Given the description of an element on the screen output the (x, y) to click on. 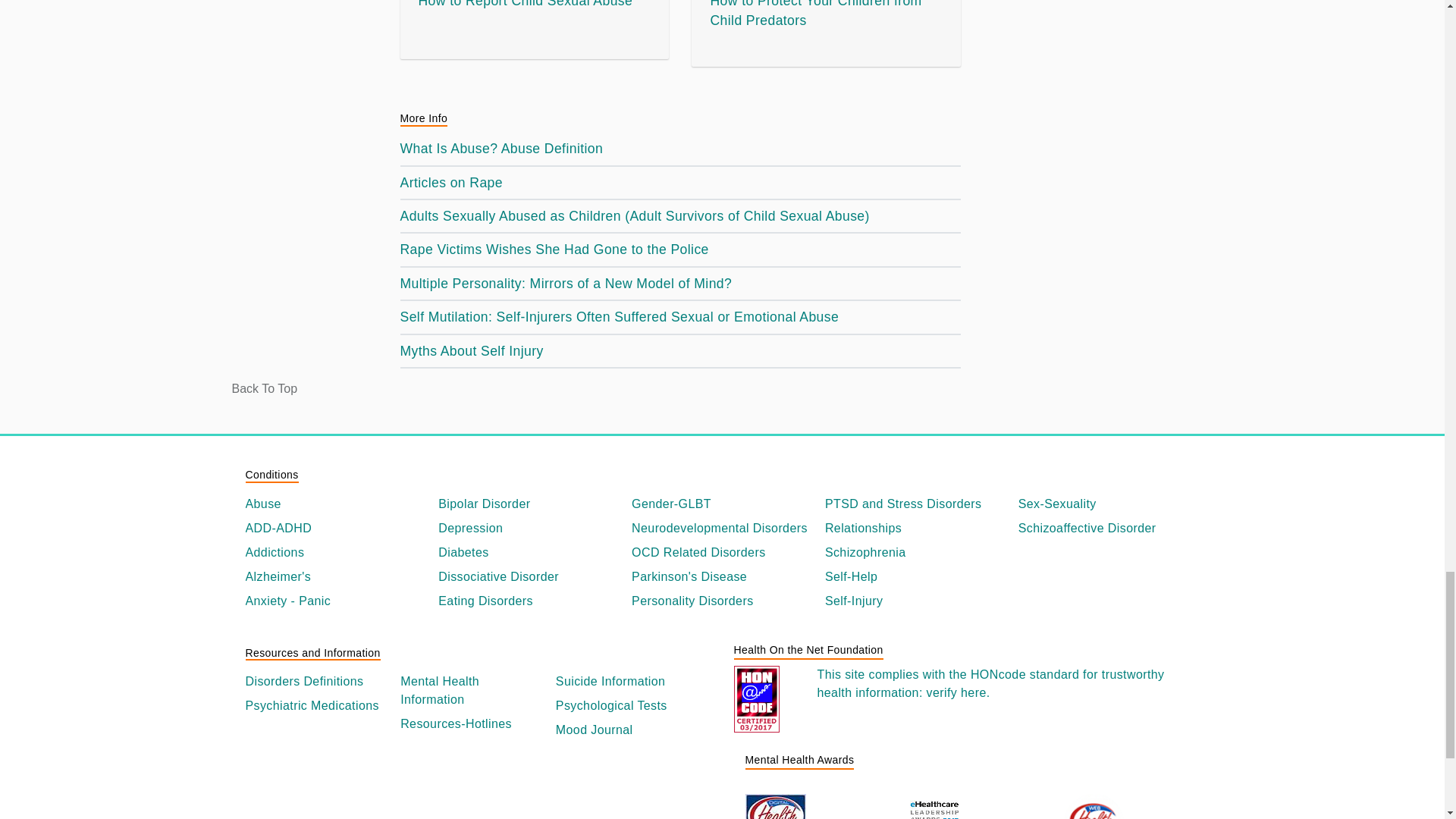
Parkinson's Disease Information Articles (721, 577)
